Given the description of an element on the screen output the (x, y) to click on. 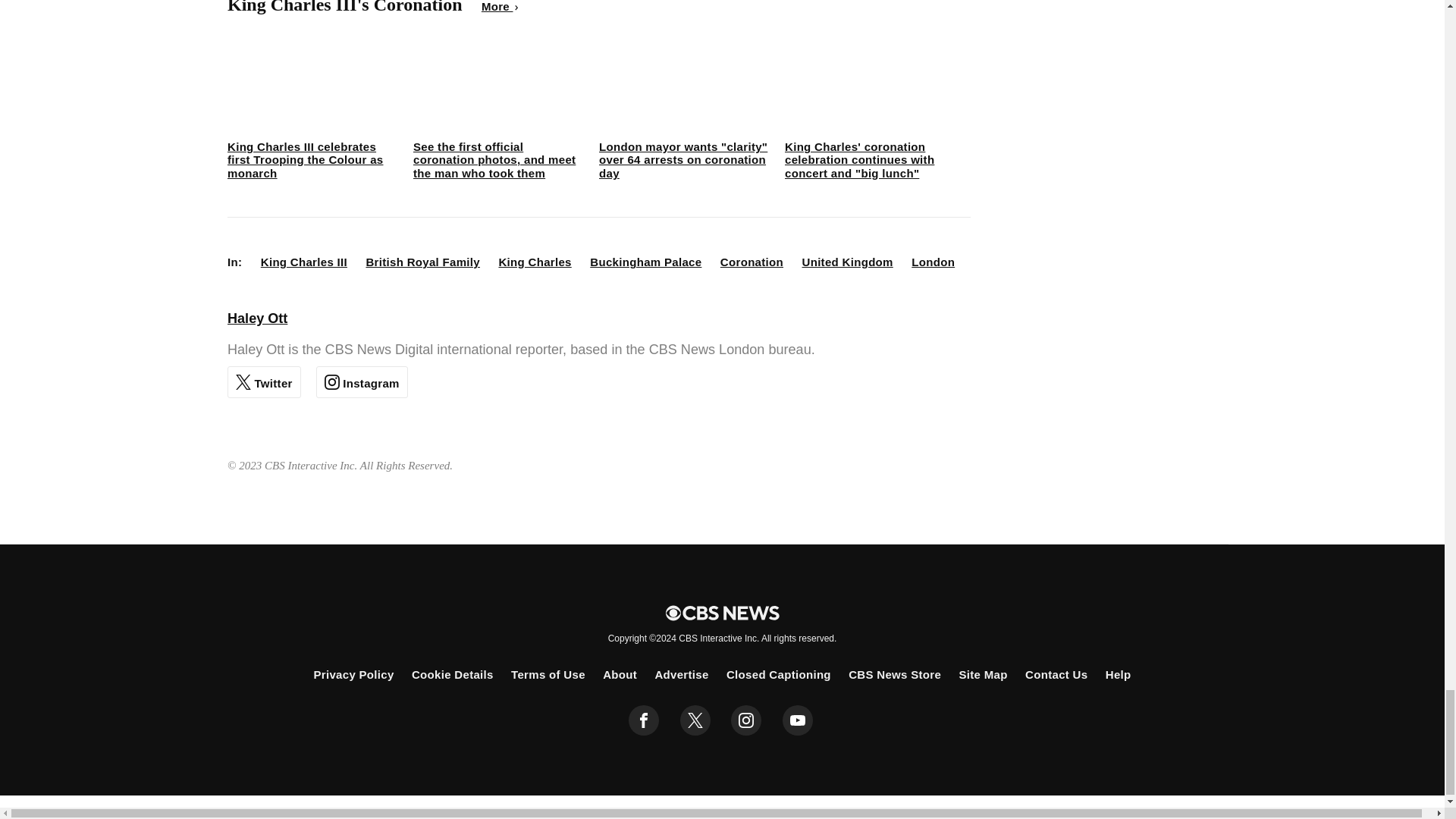
facebook (643, 720)
youtube (797, 720)
instagram (745, 720)
twitter (694, 720)
